Given the description of an element on the screen output the (x, y) to click on. 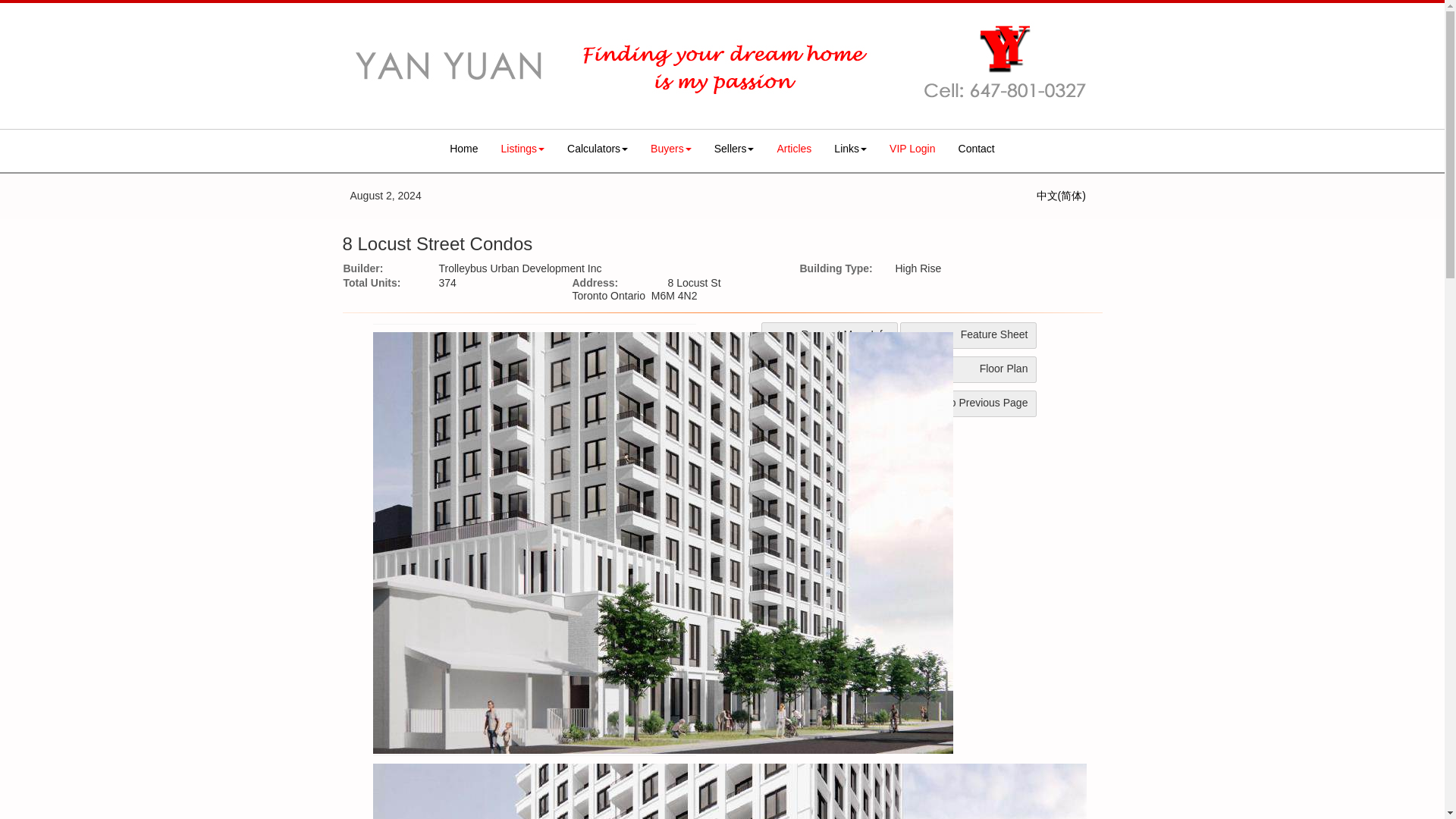
VIP Login (911, 148)
Price List (829, 403)
Home (463, 148)
Floor Plan (967, 369)
Work Sheet (829, 369)
Listings (522, 148)
Articles (793, 148)
Links (849, 148)
Back to Previous Page (967, 403)
Feature Sheet (967, 335)
